Given the description of an element on the screen output the (x, y) to click on. 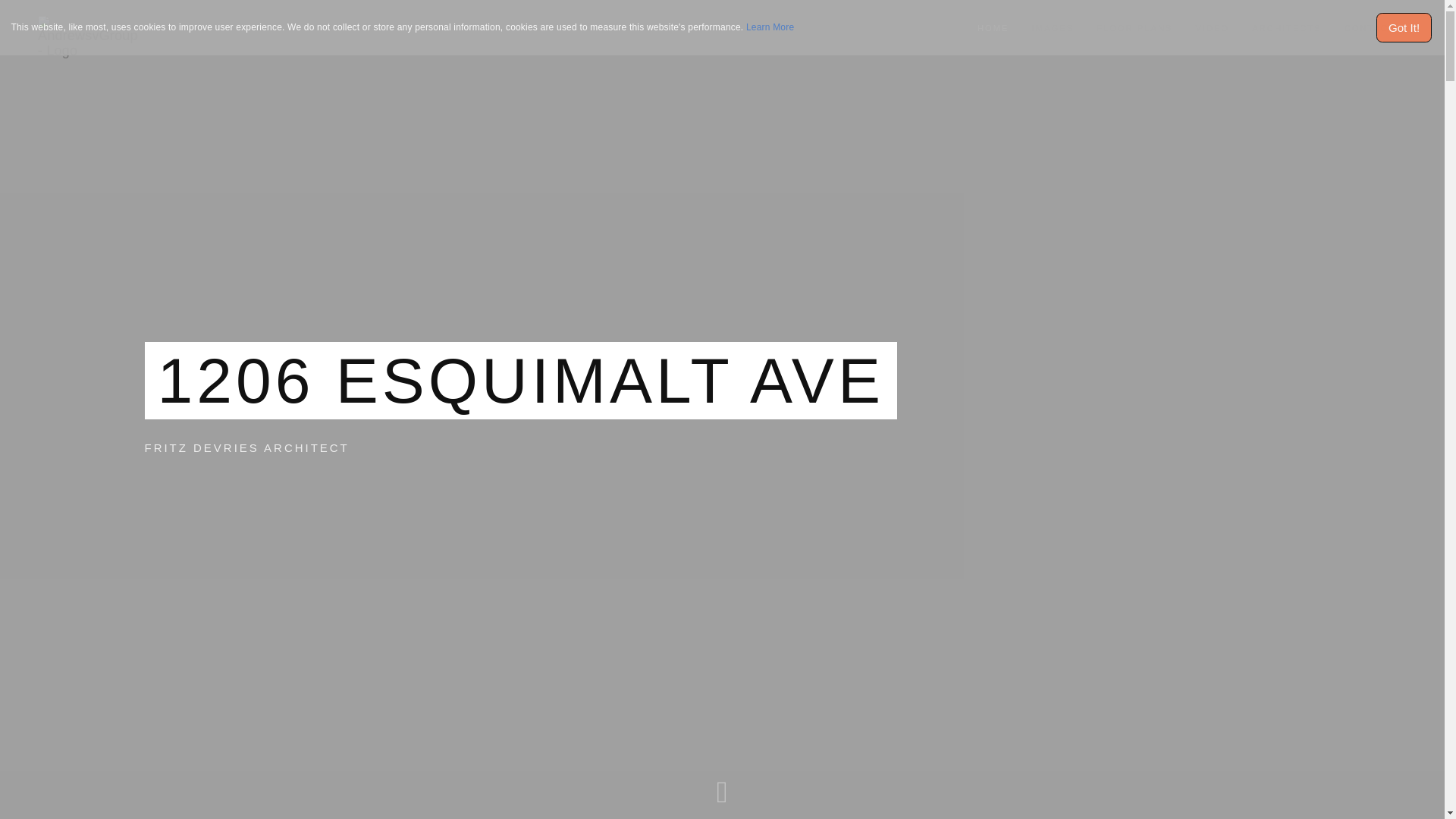
Got It! Element type: text (1403, 27)
HOME Element type: text (993, 28)
ARCHITECTS Element type: text (1286, 28)
Learn More Element type: text (769, 26)
FLOOR PLANS Element type: text (1134, 28)
VIDEO Element type: text (1211, 28)
IMAGES Element type: text (1052, 28)
CONTACT Element type: text (1369, 28)
